Given the description of an element on the screen output the (x, y) to click on. 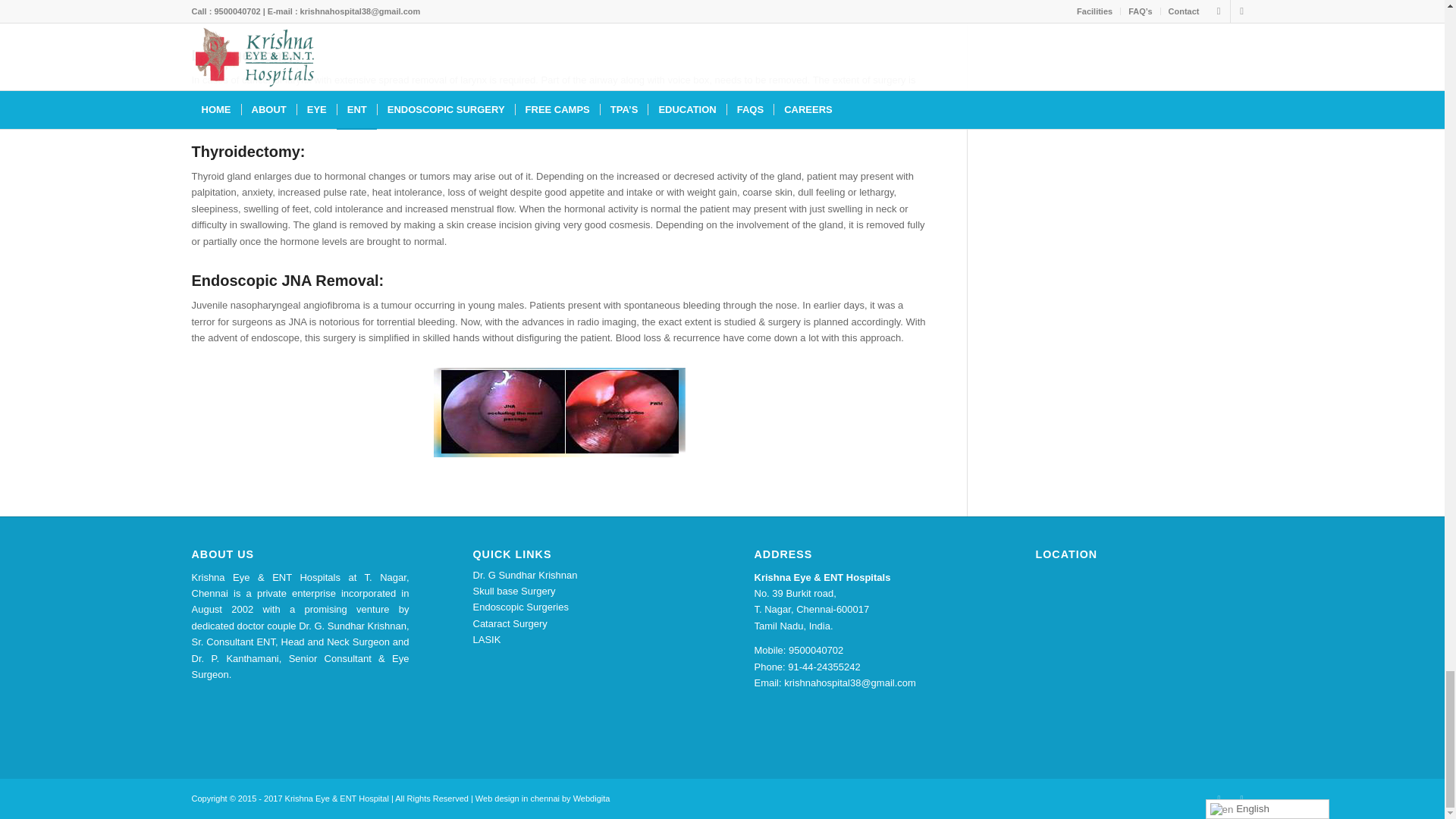
Youtube (1241, 798)
Facebook (1218, 798)
